Given the description of an element on the screen output the (x, y) to click on. 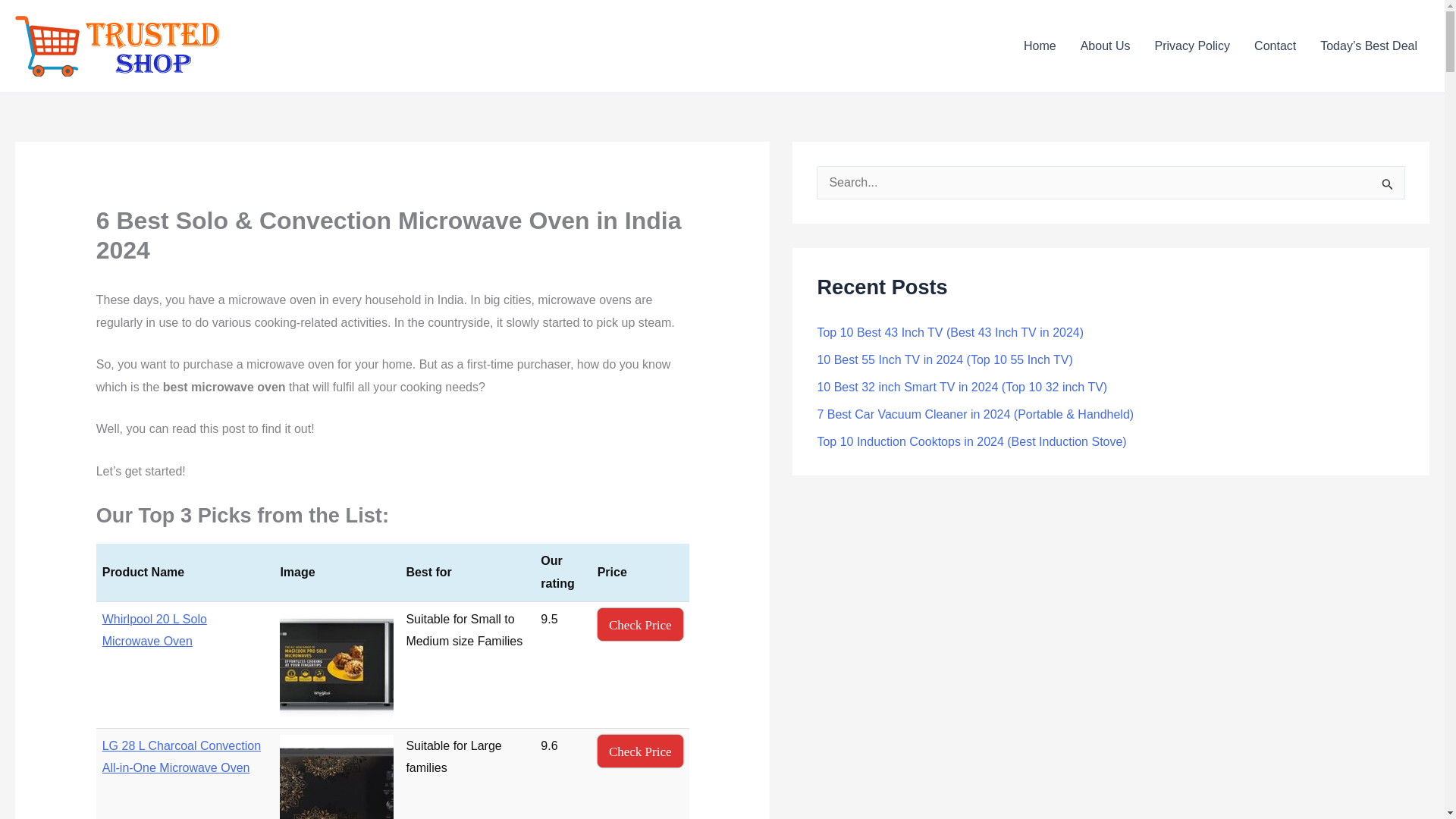
Check Price (639, 750)
Privacy Policy (1191, 45)
About Us (1105, 45)
Search (1388, 187)
LG 28 L Charcoal Convection All-in-One Microwave Oven (180, 756)
Search (1388, 187)
Home (1039, 45)
Whirlpool 20 L Solo Microwave Oven (153, 630)
Check Price (639, 624)
Contact (1274, 45)
